Given the description of an element on the screen output the (x, y) to click on. 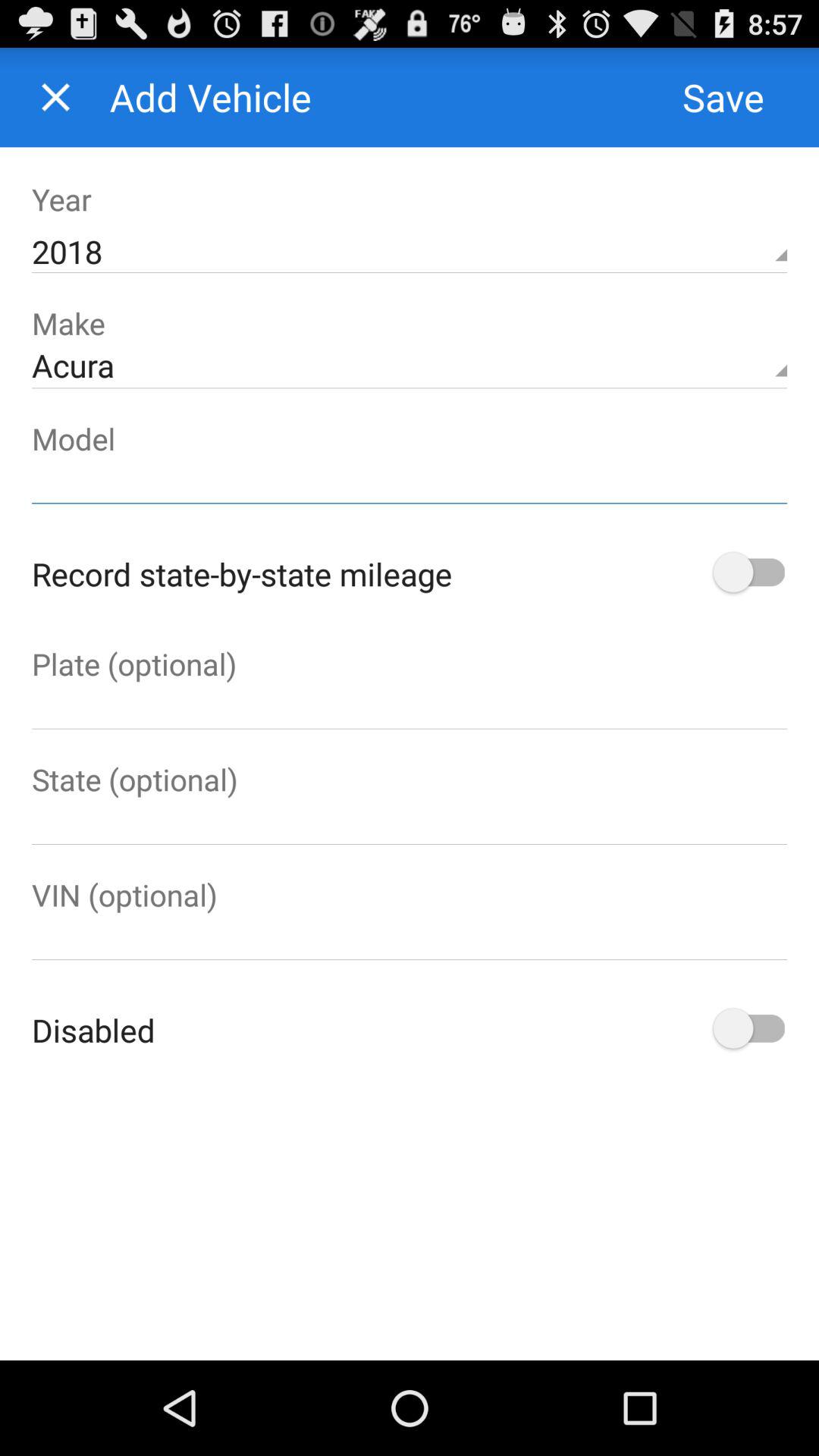
insert car model (409, 480)
